Given the description of an element on the screen output the (x, y) to click on. 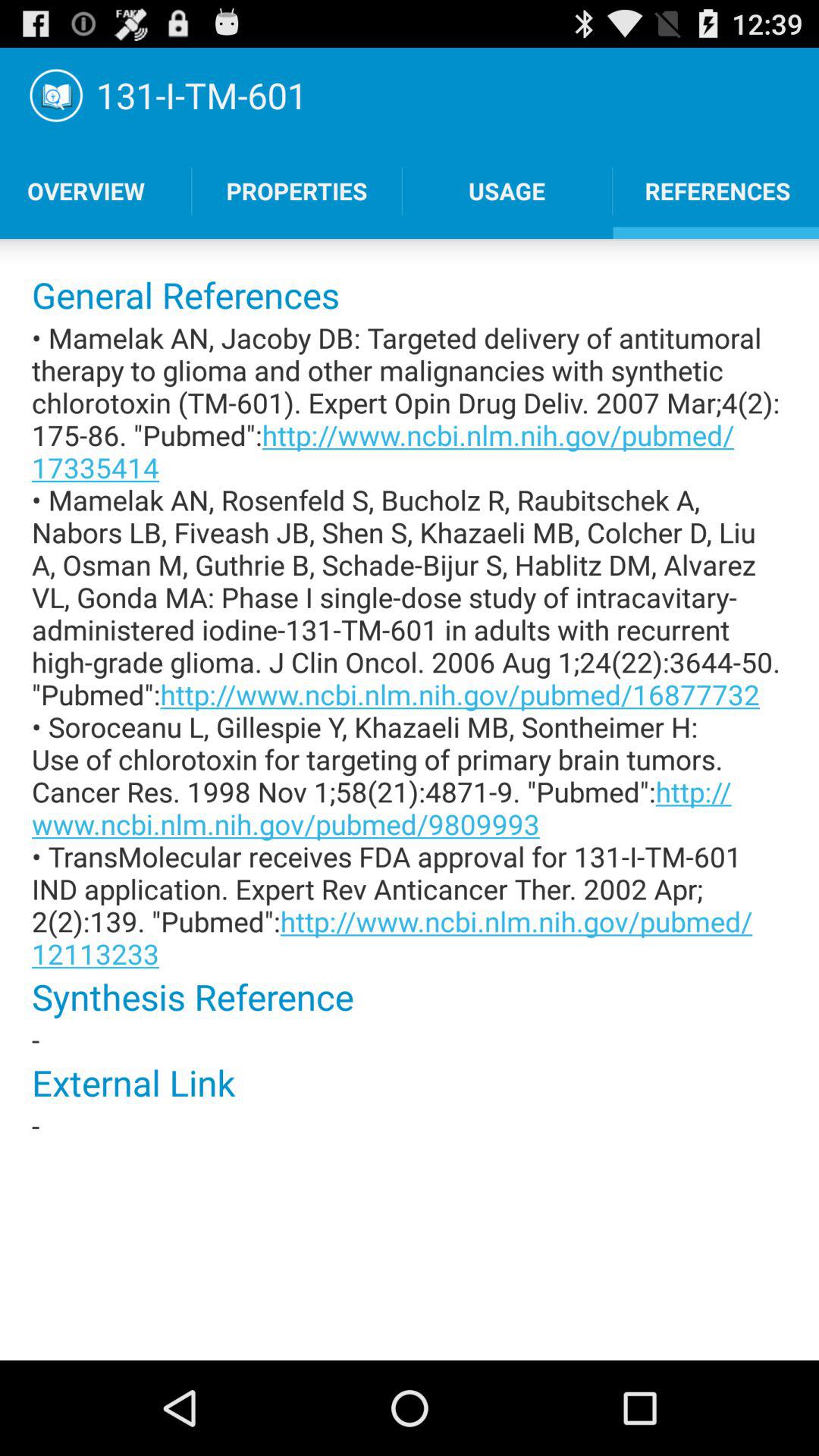
turn off mamelak an jacoby app (409, 645)
